Given the description of an element on the screen output the (x, y) to click on. 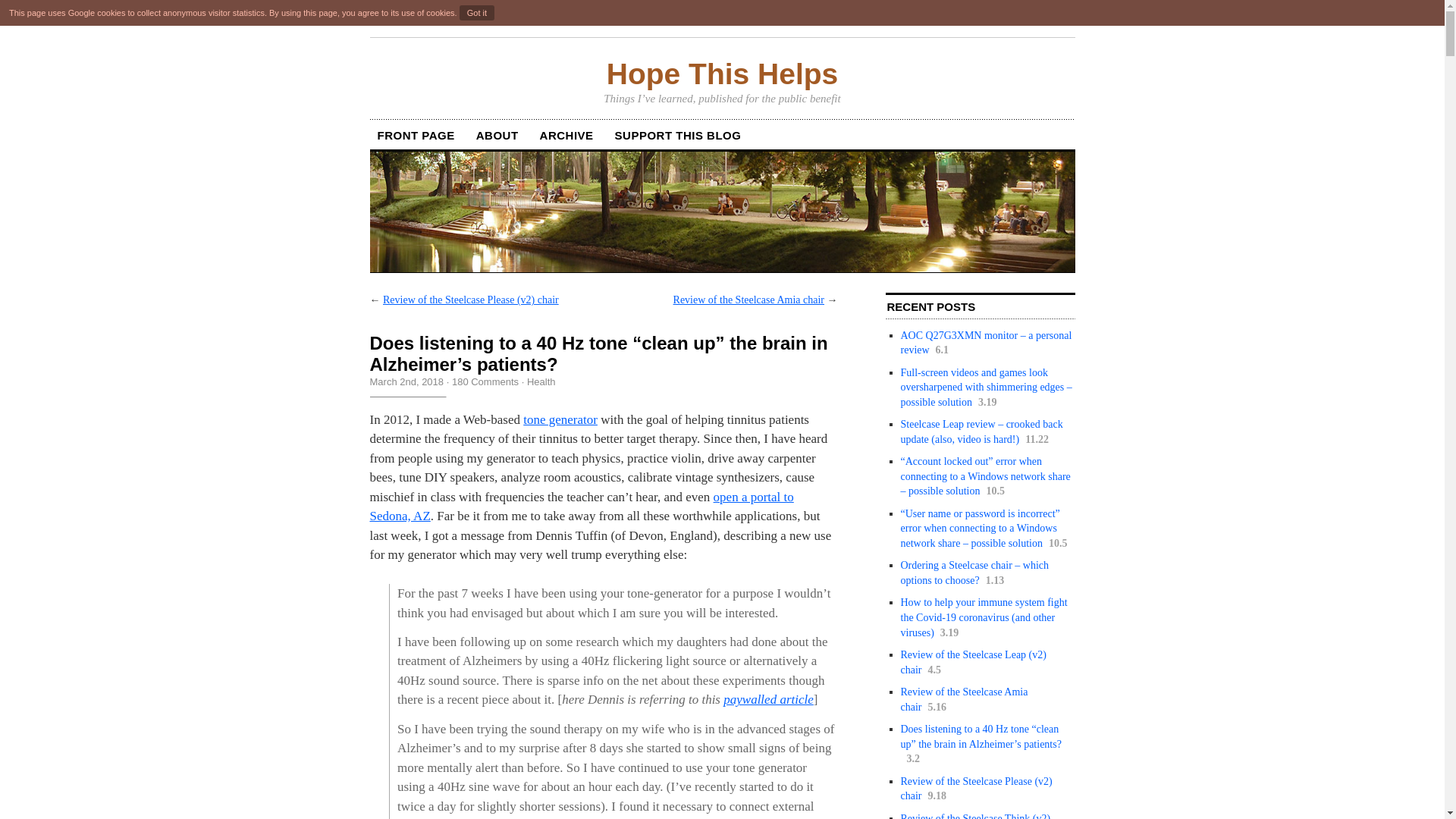
180 Comments (484, 381)
FRONT PAGE (415, 134)
tone generator (559, 419)
paywalled article (768, 699)
ABOUT (497, 134)
open a portal to Sedona, AZ (581, 506)
go to the front page (722, 73)
Hope This Helps (722, 73)
Health (541, 381)
Got it (477, 12)
